Given the description of an element on the screen output the (x, y) to click on. 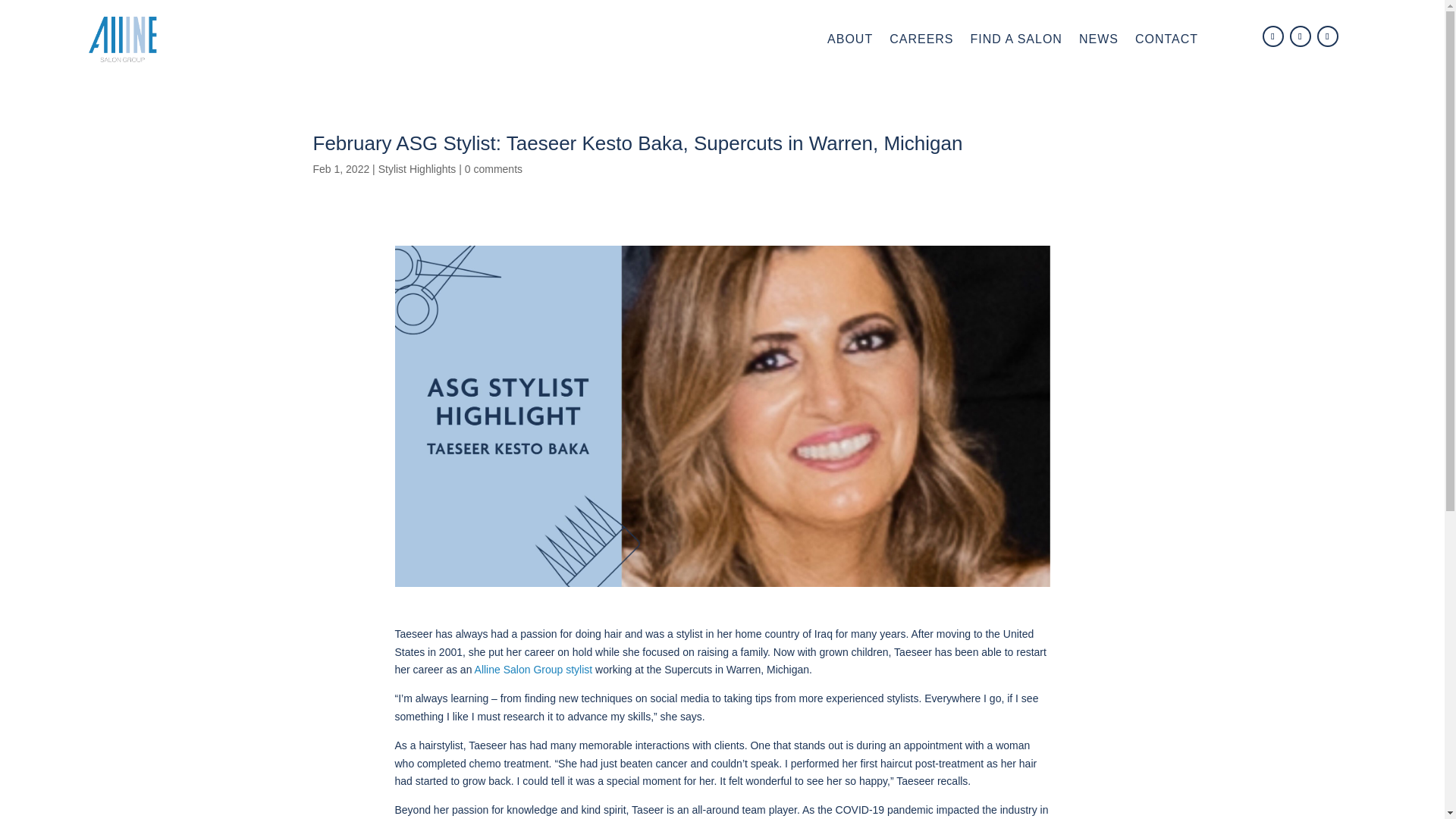
Follow on LinkedIn (1327, 35)
Alline Salon Group stylist (533, 669)
Follow on Facebook (1273, 35)
FIND A SALON (1016, 38)
Stylist Highlights (417, 168)
CONTACT (1166, 38)
CAREERS (921, 38)
0 comments (493, 168)
Follow on Instagram (1300, 35)
